Given the description of an element on the screen output the (x, y) to click on. 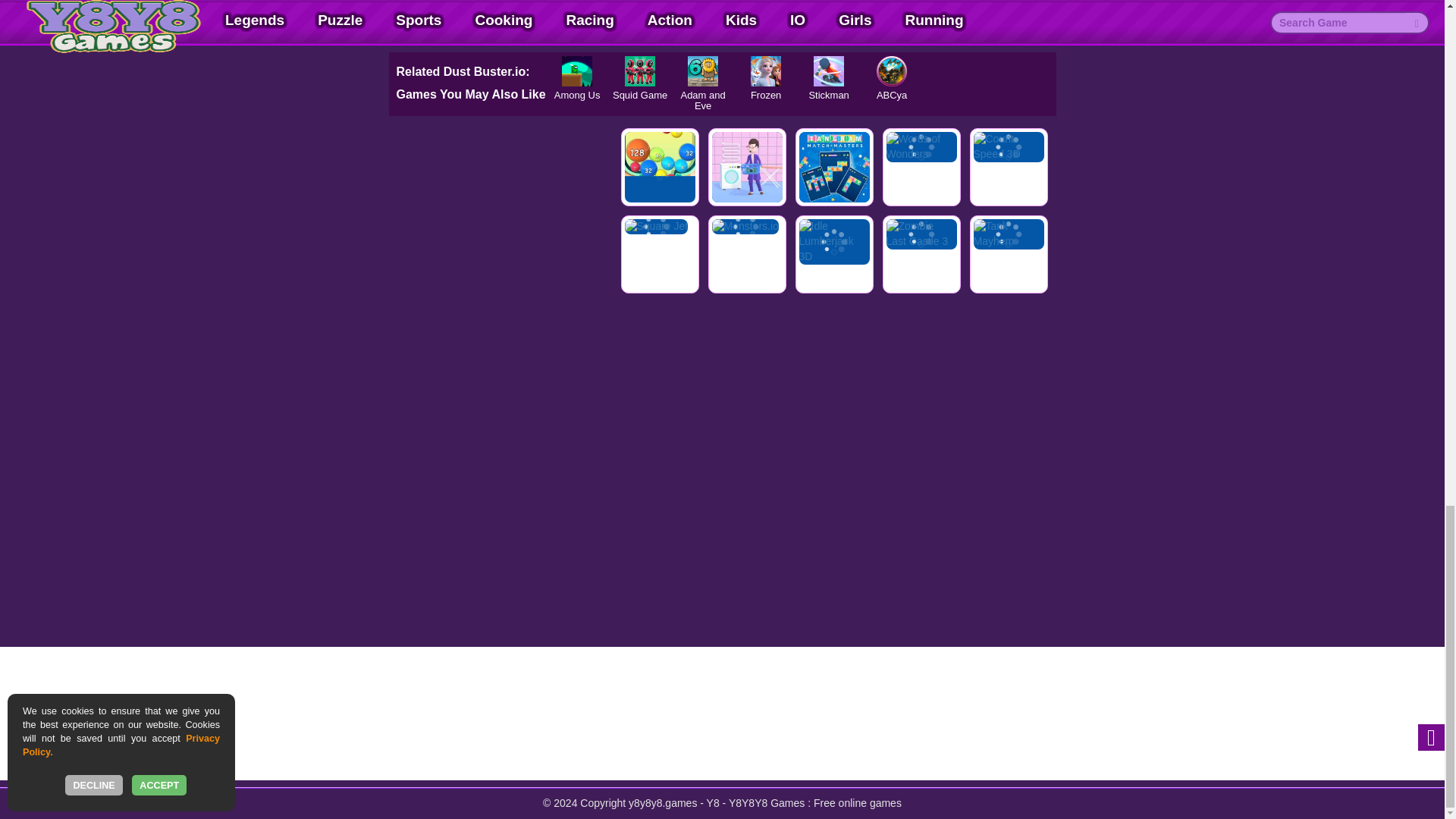
Squid Game (639, 71)
Frozen (766, 71)
Stickman (828, 71)
ABCya (891, 71)
ABCya (891, 71)
Stickman (828, 71)
Squid Game (639, 71)
Adam and Eve (703, 71)
Among Us (577, 71)
Advertisement (721, 18)
Adam and Eve (703, 71)
Among Us (577, 71)
Frozen (766, 71)
